Given the description of an element on the screen output the (x, y) to click on. 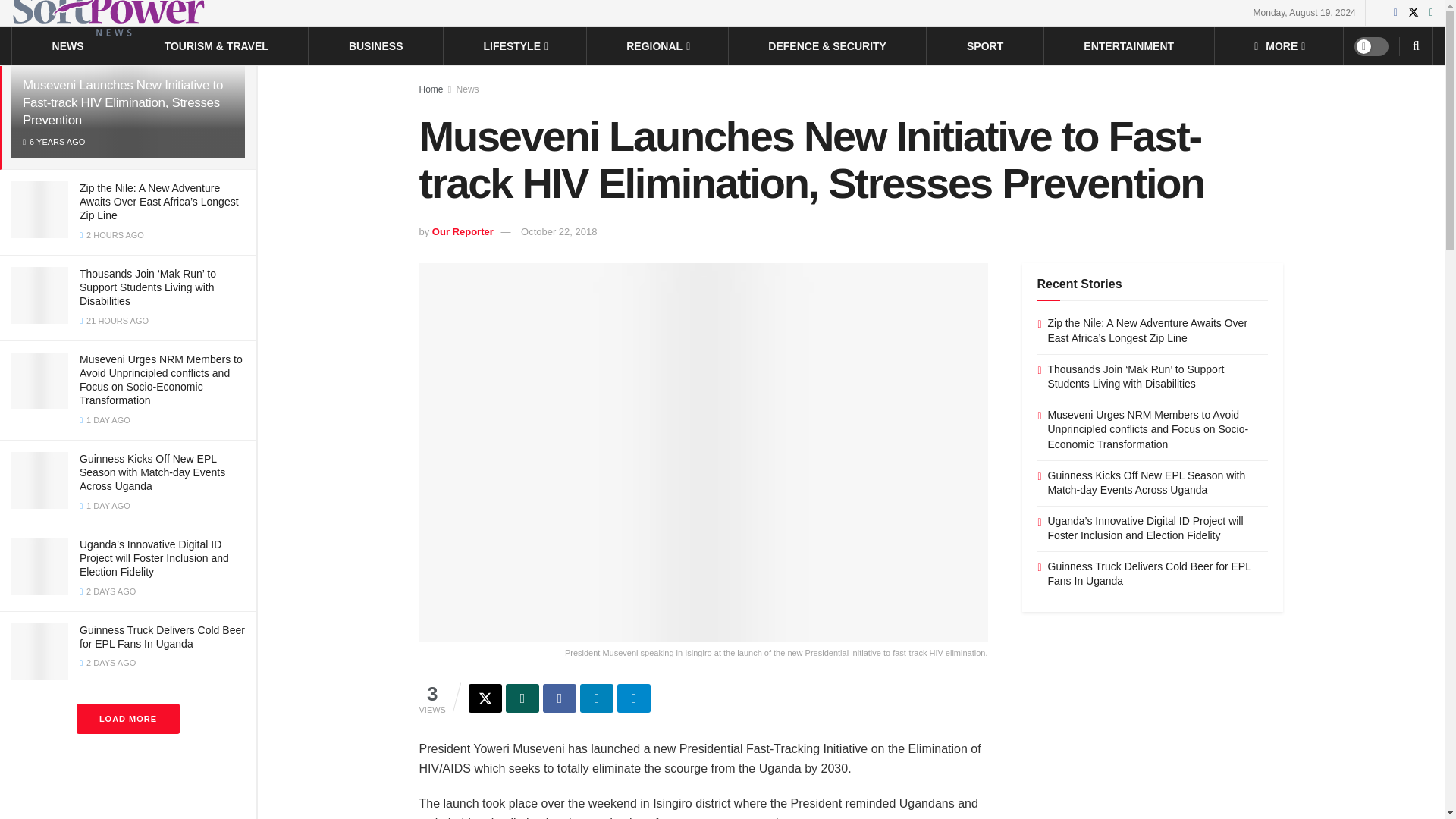
REGIONAL (656, 46)
BUSINESS (376, 46)
LIFESTYLE (515, 46)
LOAD MORE (128, 718)
ENTERTAINMENT (1128, 46)
MORE (1278, 46)
Guinness Truck Delivers Cold Beer for EPL Fans In Uganda (162, 637)
